Given the description of an element on the screen output the (x, y) to click on. 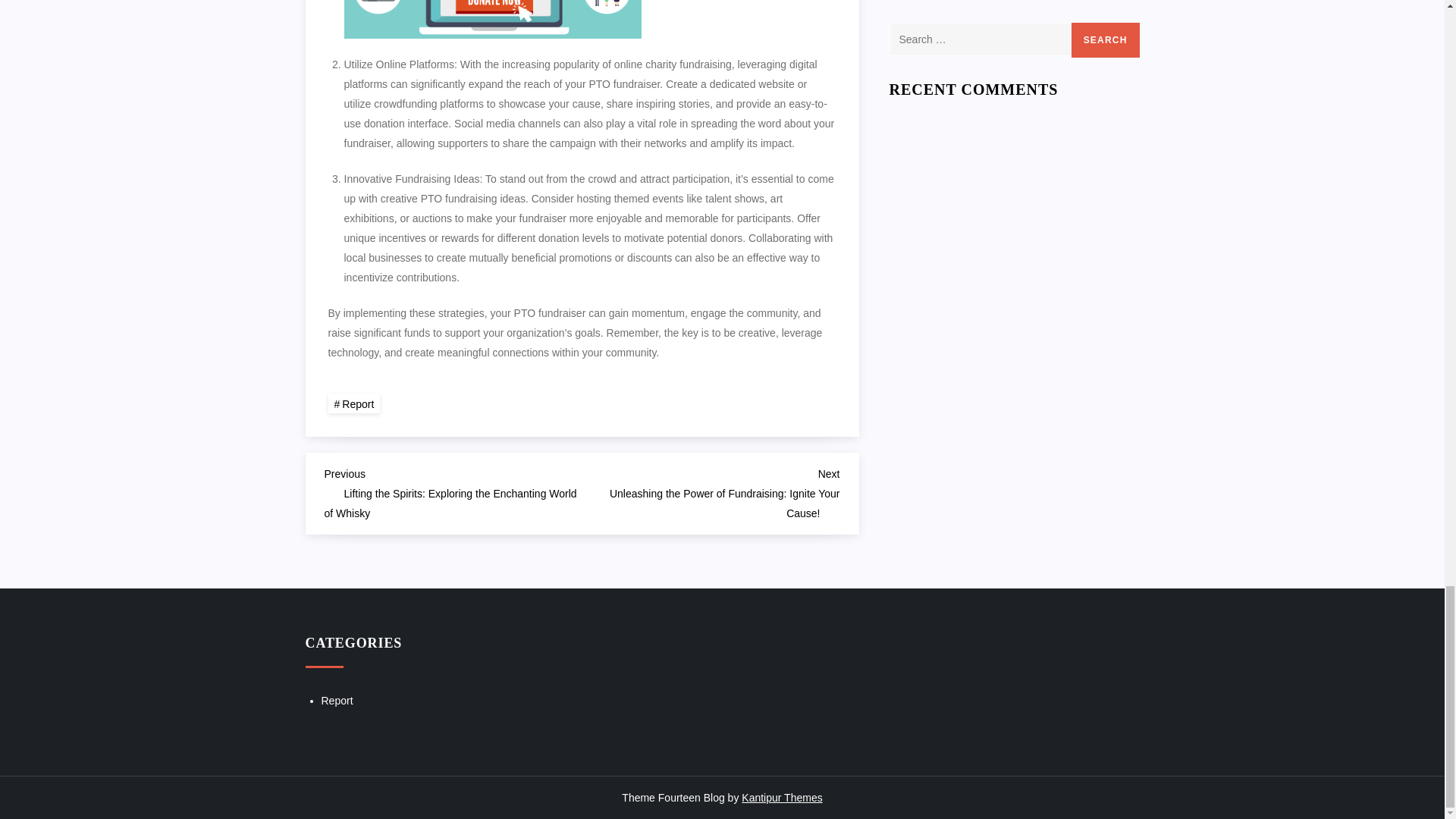
Kantipur Themes (781, 797)
Report (353, 403)
Report (337, 700)
